Given the description of an element on the screen output the (x, y) to click on. 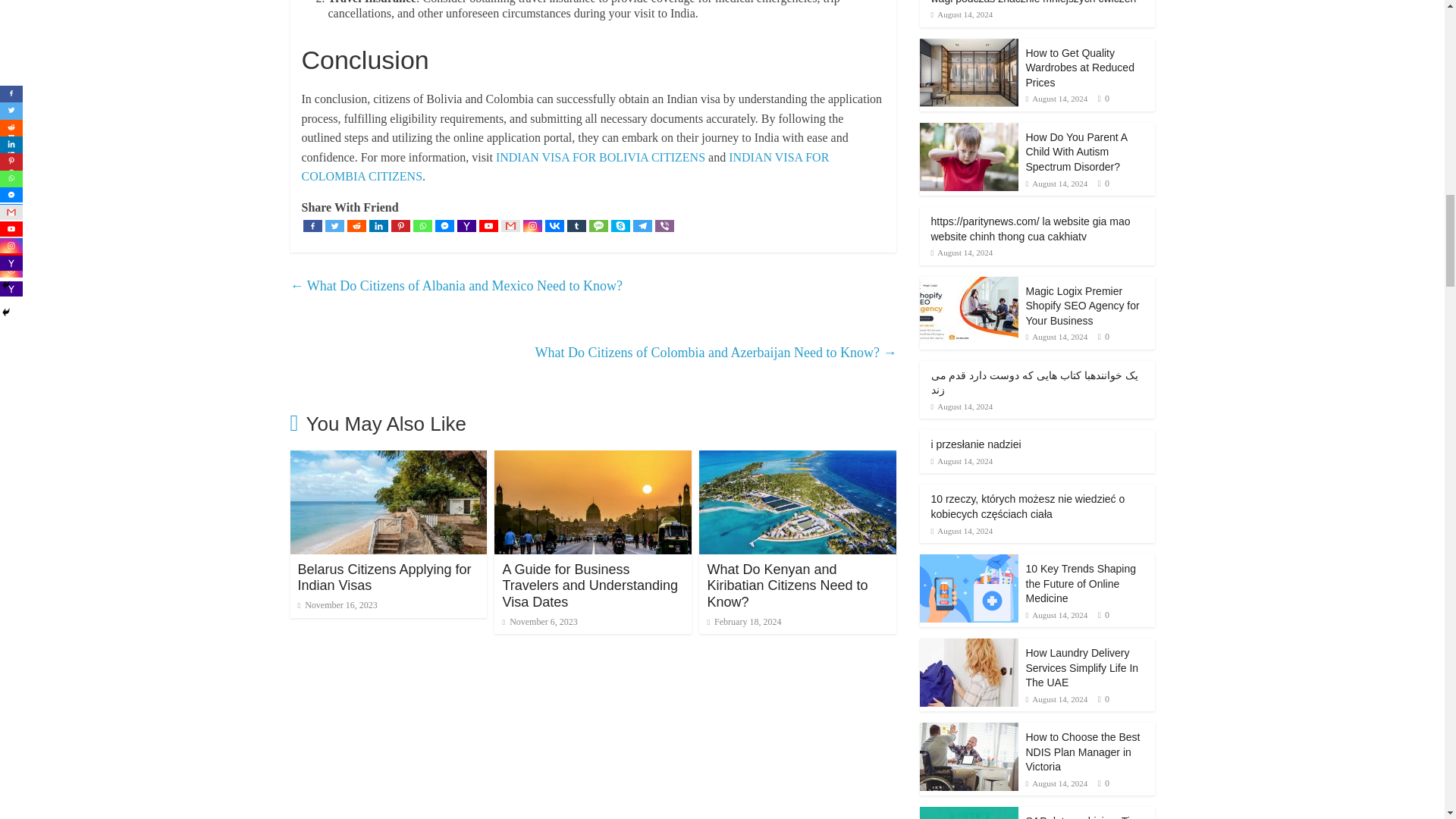
Google Gmail (509, 225)
Twitter (333, 225)
Facebook (311, 225)
Pinterest (400, 225)
Yahoo Mail (466, 225)
Linkedin (377, 225)
INDIAN VISA FOR COLOMBIA CITIZENS (565, 166)
Whatsapp (421, 225)
Youtube (488, 225)
Reddit (356, 225)
